Given the description of an element on the screen output the (x, y) to click on. 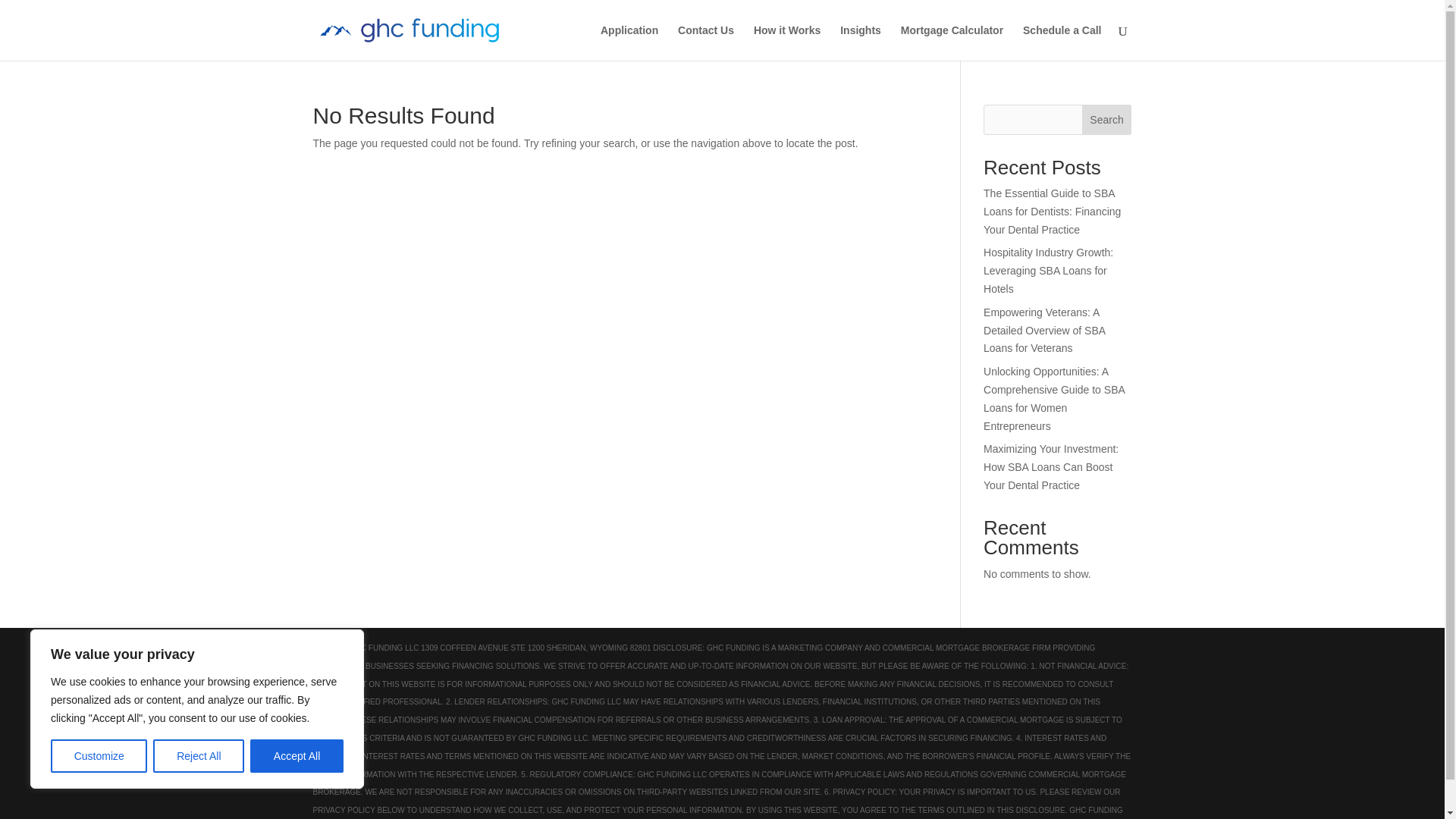
Search (1106, 119)
Contact Us (705, 42)
Schedule a Call (1061, 42)
Accept All (296, 756)
Reject All (198, 756)
Customize (98, 756)
Hospitality Industry Growth: Leveraging SBA Loans for Hotels (1048, 270)
Mortgage Calculator (952, 42)
Application (628, 42)
Insights (860, 42)
How it Works (787, 42)
